Given the description of an element on the screen output the (x, y) to click on. 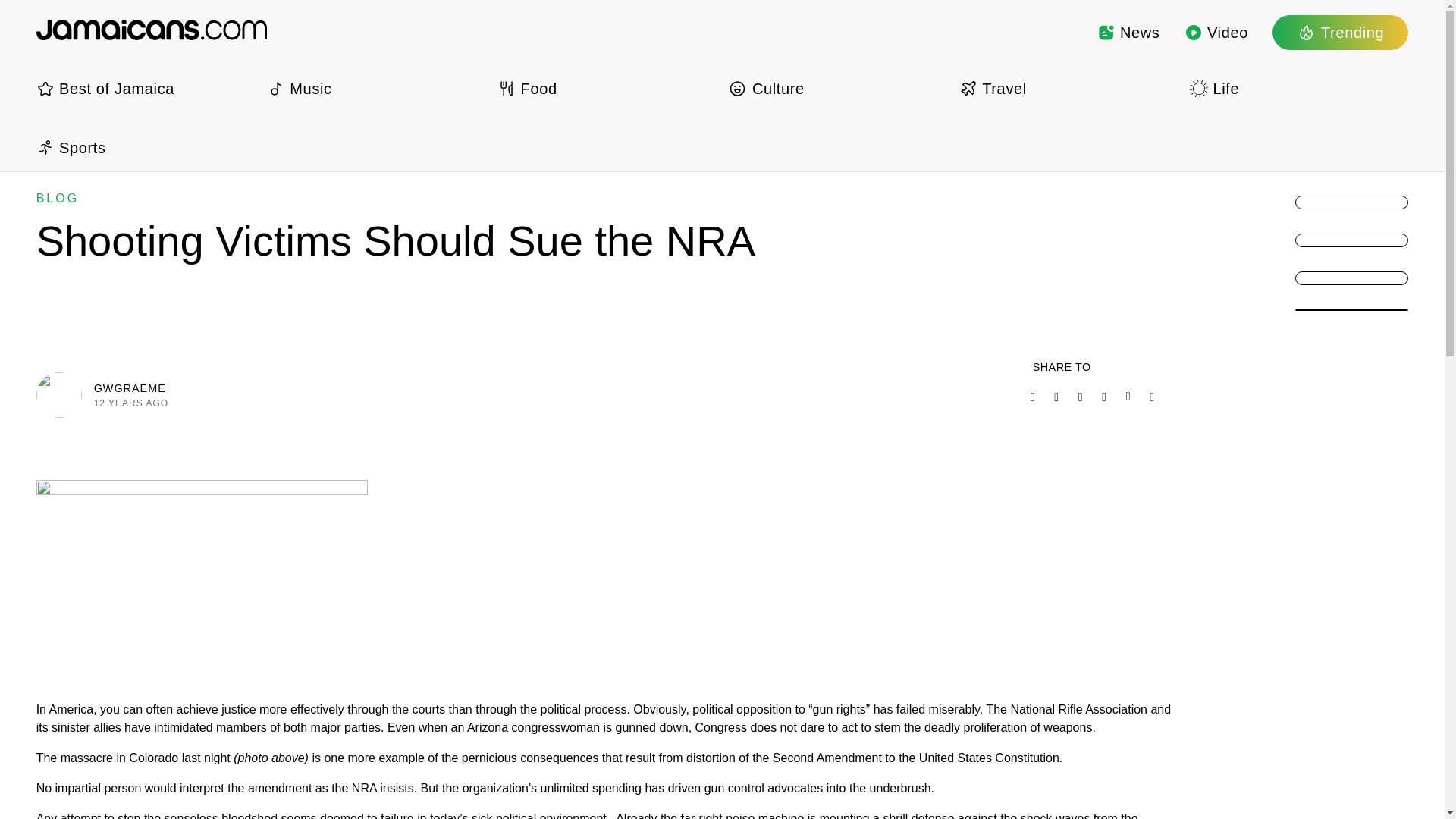
News (1128, 32)
BLOG (57, 197)
Travel (1068, 88)
Sports (145, 147)
Best of Jamaica (145, 88)
Life (1298, 88)
Music (375, 88)
Culture (837, 88)
Video (1216, 32)
Food (606, 88)
Trending (1339, 32)
